Given the description of an element on the screen output the (x, y) to click on. 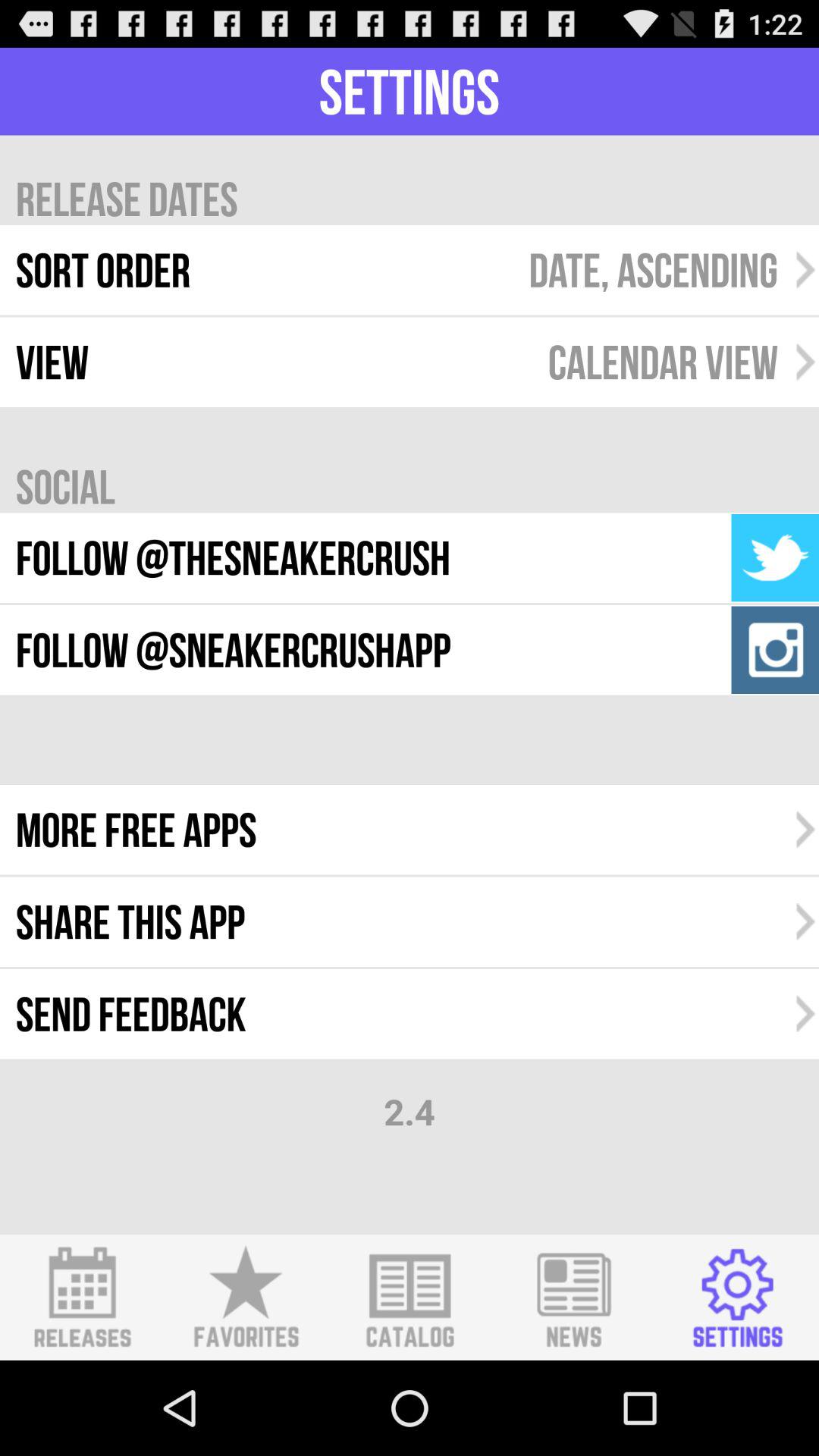
click to releases (81, 1297)
